Given the description of an element on the screen output the (x, y) to click on. 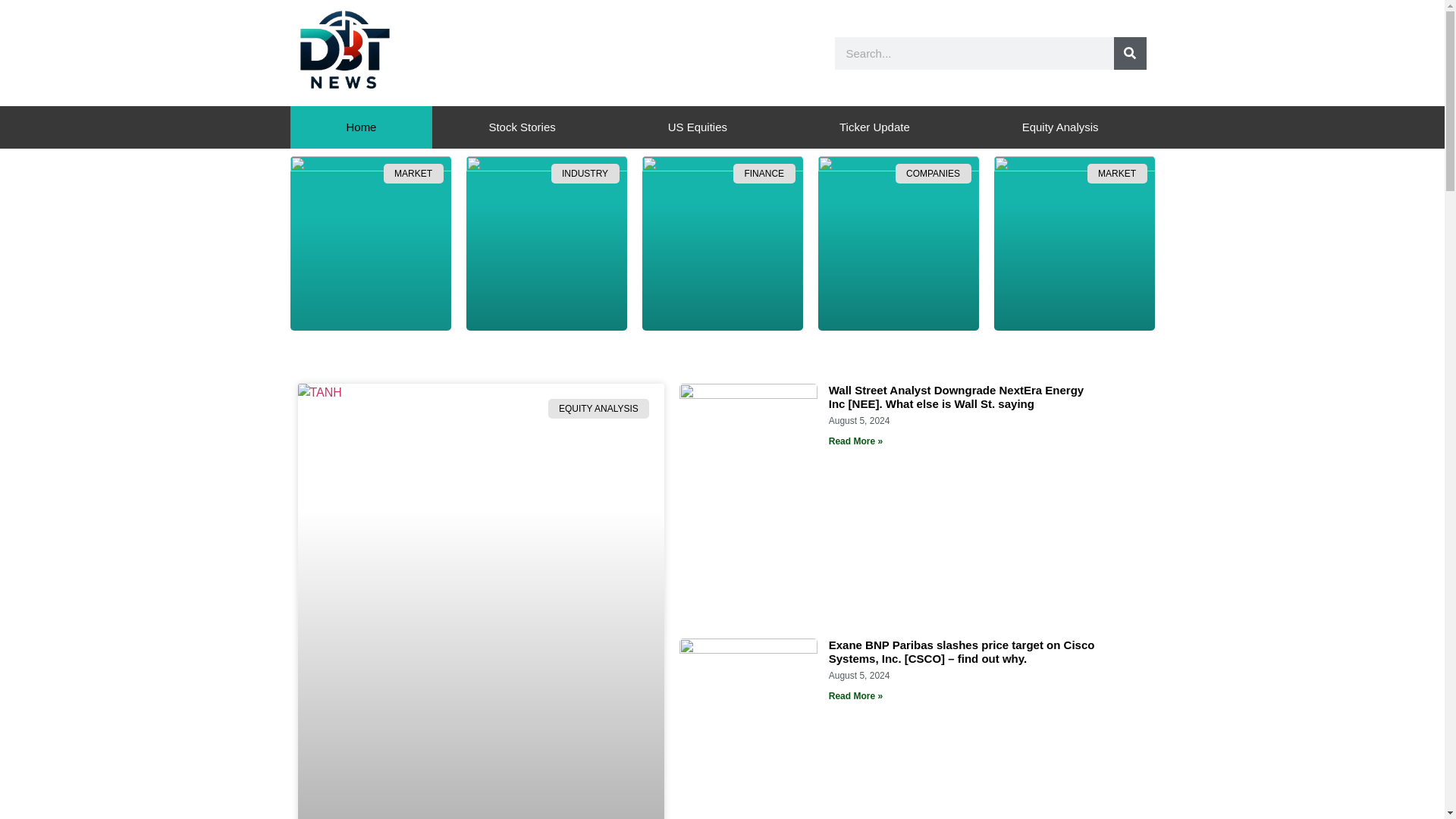
Stock Stories (521, 127)
Equity Analysis (1060, 127)
Ticker Update (874, 127)
Home (360, 127)
US Equities (697, 127)
